Given the description of an element on the screen output the (x, y) to click on. 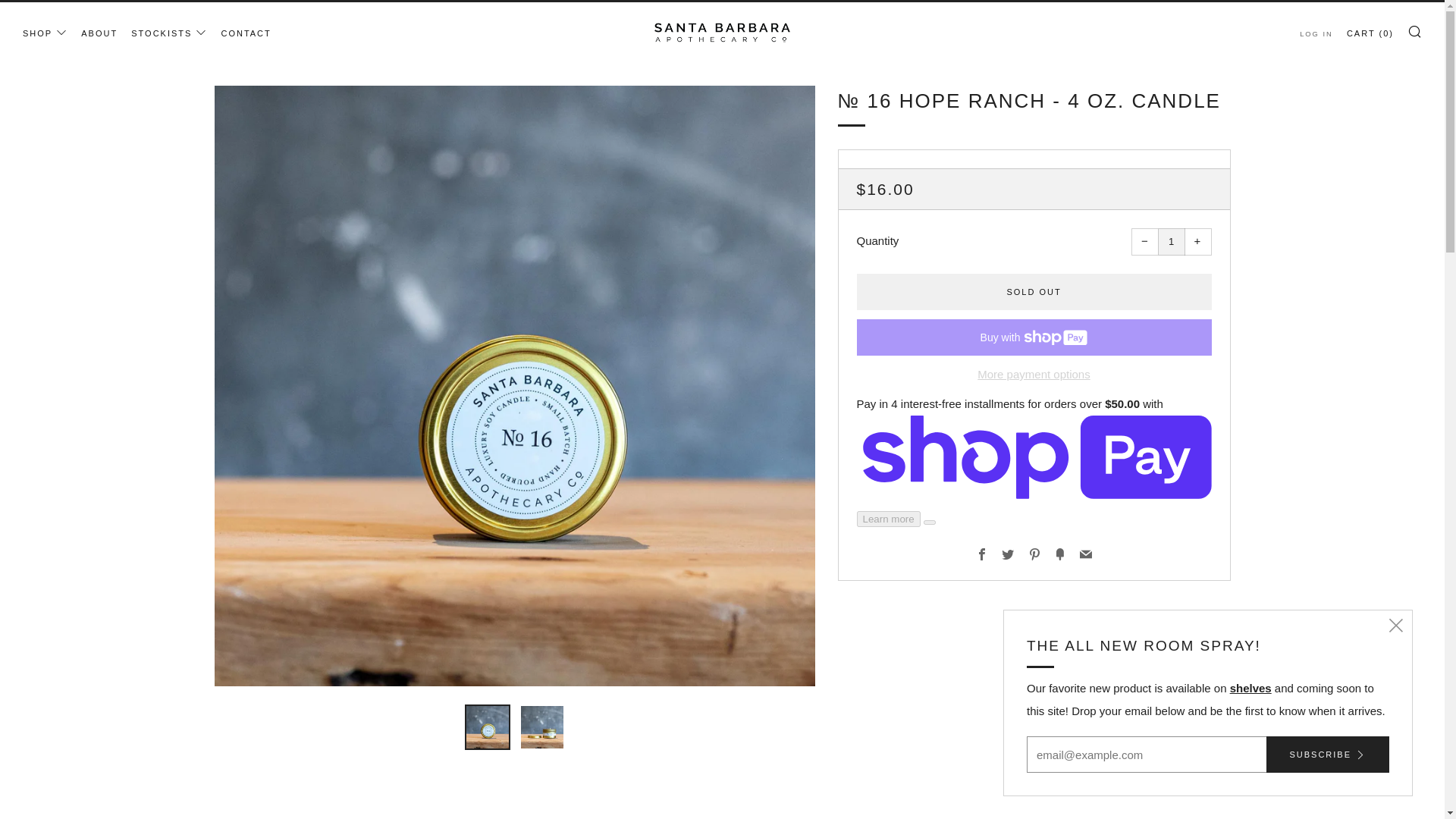
1 (1171, 241)
Stockists (1250, 687)
